Given the description of an element on the screen output the (x, y) to click on. 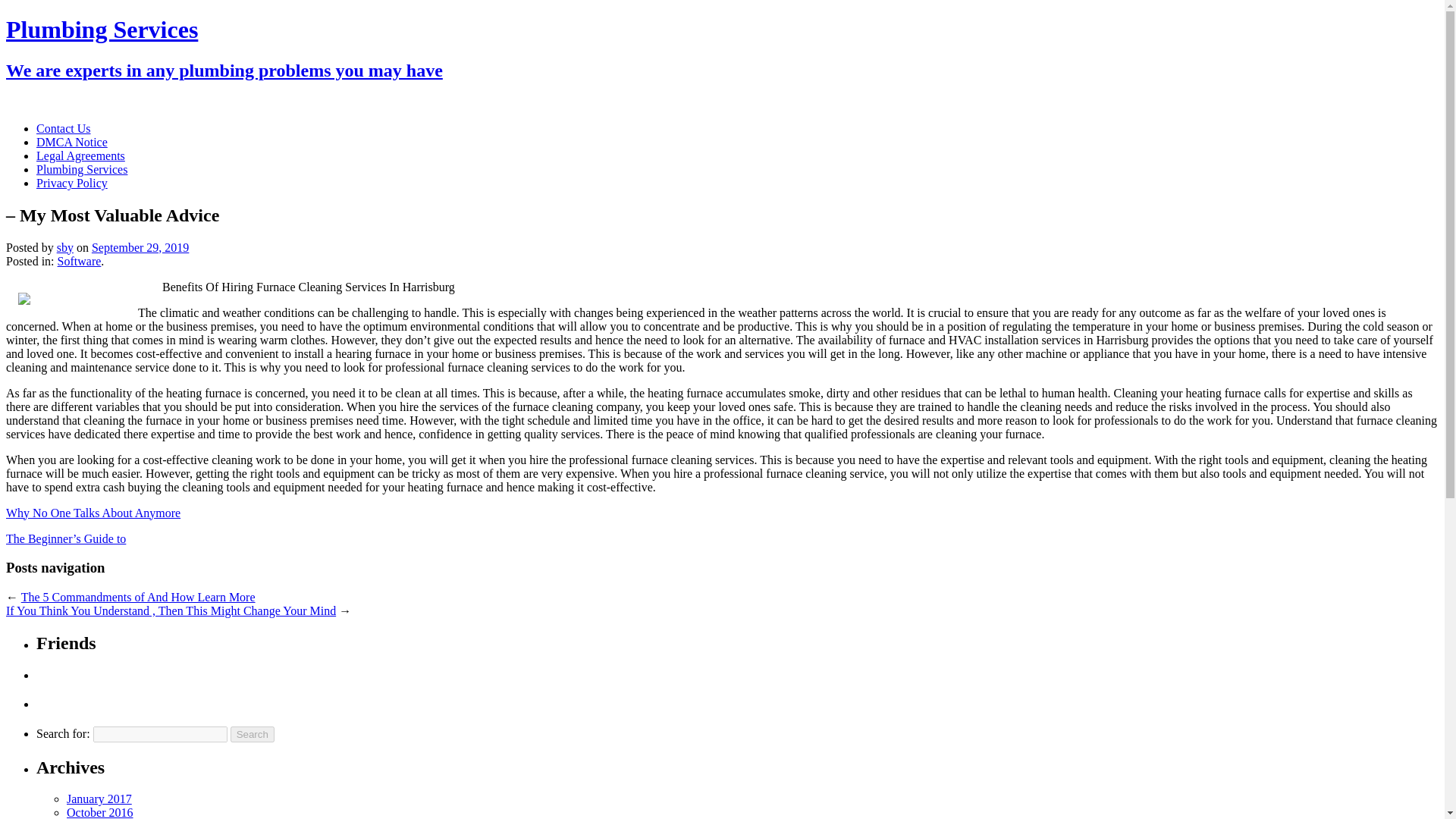
Search (252, 734)
The 5 Commandments of And How Learn More (138, 596)
Search (252, 734)
Contact Us (63, 128)
October 2016 (99, 812)
DMCA Notice (71, 141)
We are experts in any plumbing problems you may have (223, 70)
September 29, 2019 (140, 246)
Plumbing Services (101, 29)
